Given the description of an element on the screen output the (x, y) to click on. 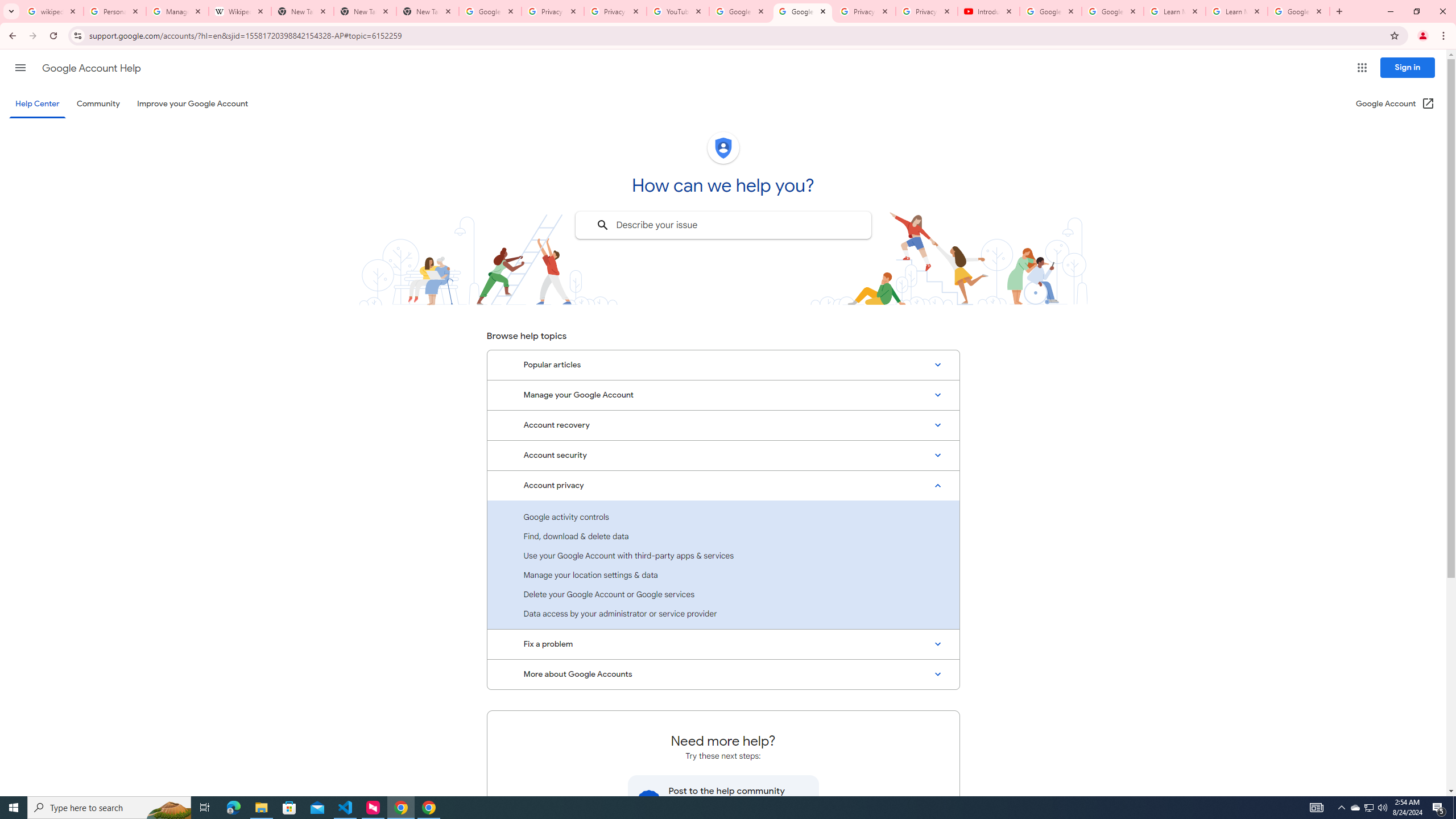
Account recovery (722, 425)
New Tab (427, 11)
More about Google Accounts (722, 674)
New Tab (365, 11)
Data access by your administrator or service provider (722, 613)
Manage your location settings & data (722, 574)
Find, download & delete data (722, 536)
